Given the description of an element on the screen output the (x, y) to click on. 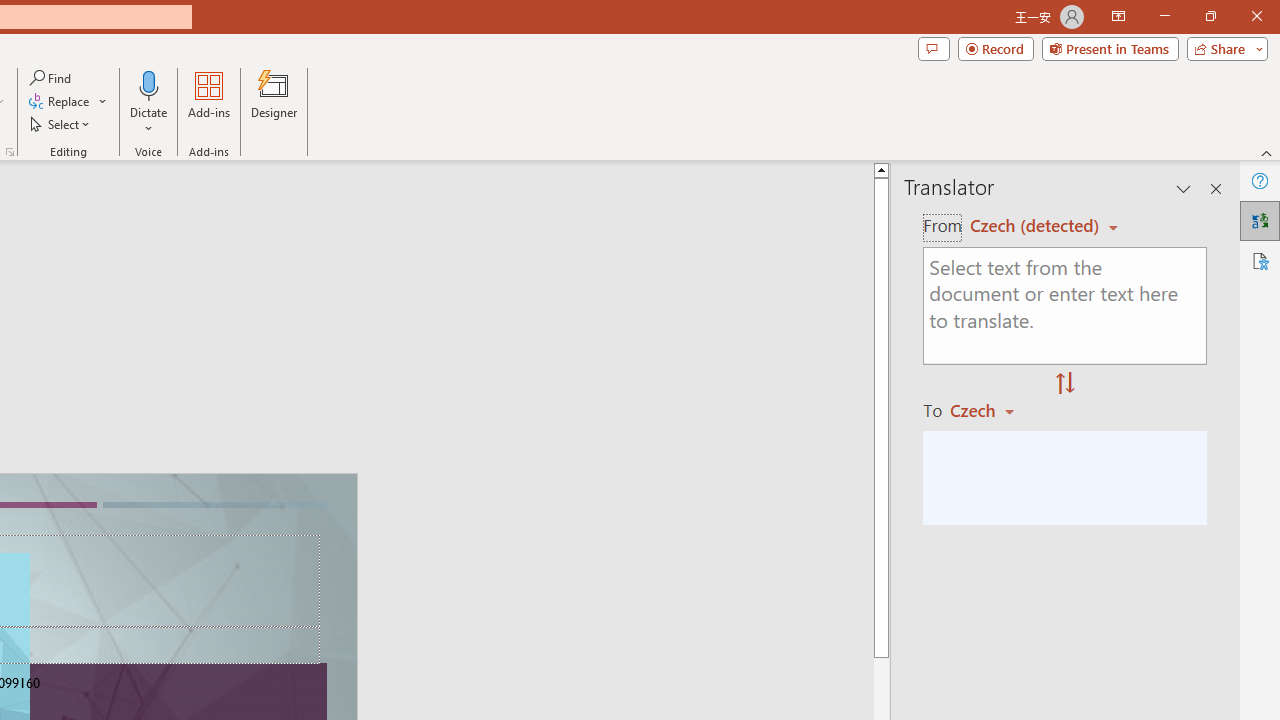
Czech (991, 409)
Czech (detected) (1037, 225)
